Given the description of an element on the screen output the (x, y) to click on. 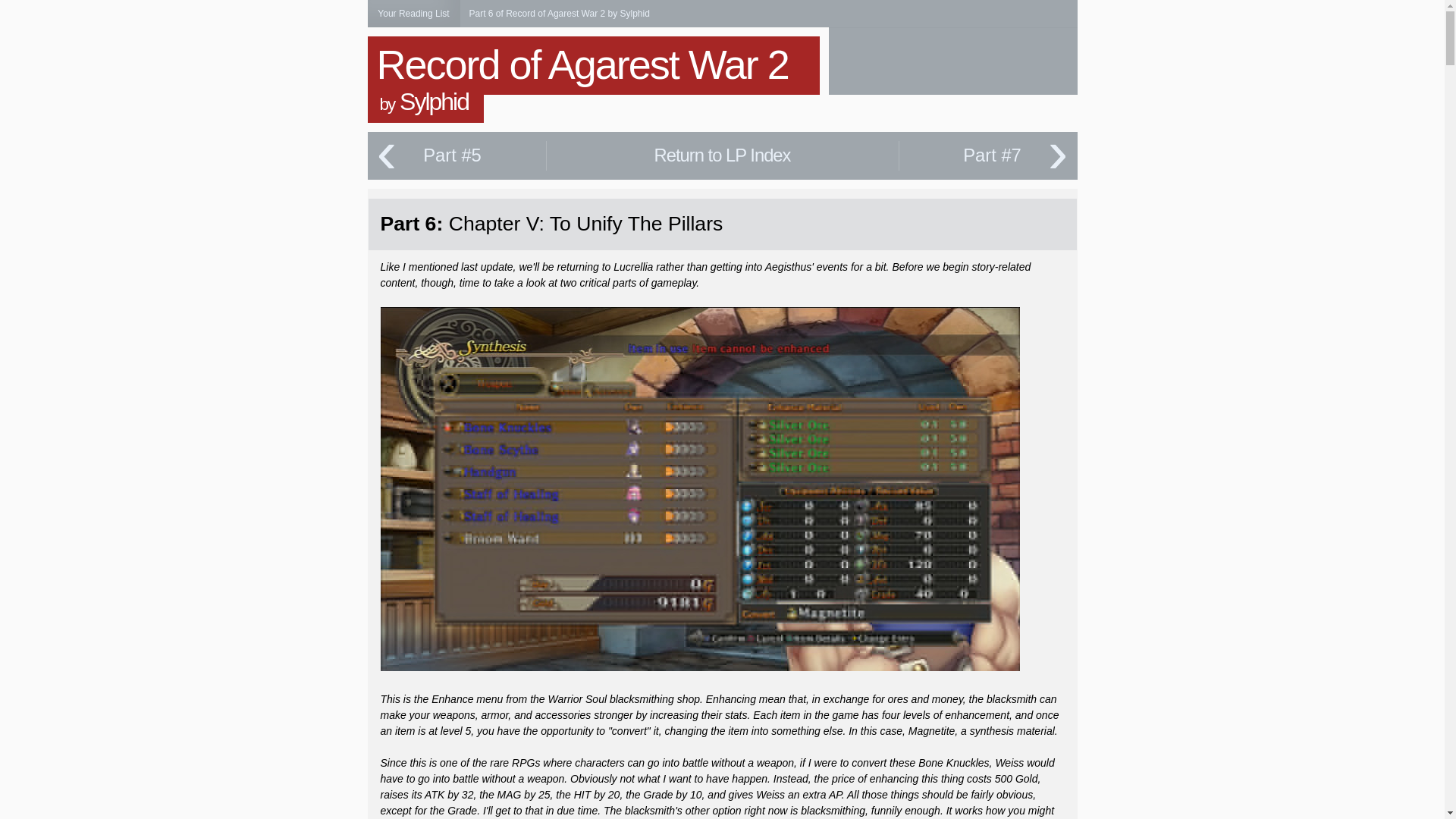
Sylphid (433, 101)
Click to expand and view your full reading list (413, 13)
Part 6 of Record of Agarest War 2 by Sylphid (558, 13)
